Given the description of an element on the screen output the (x, y) to click on. 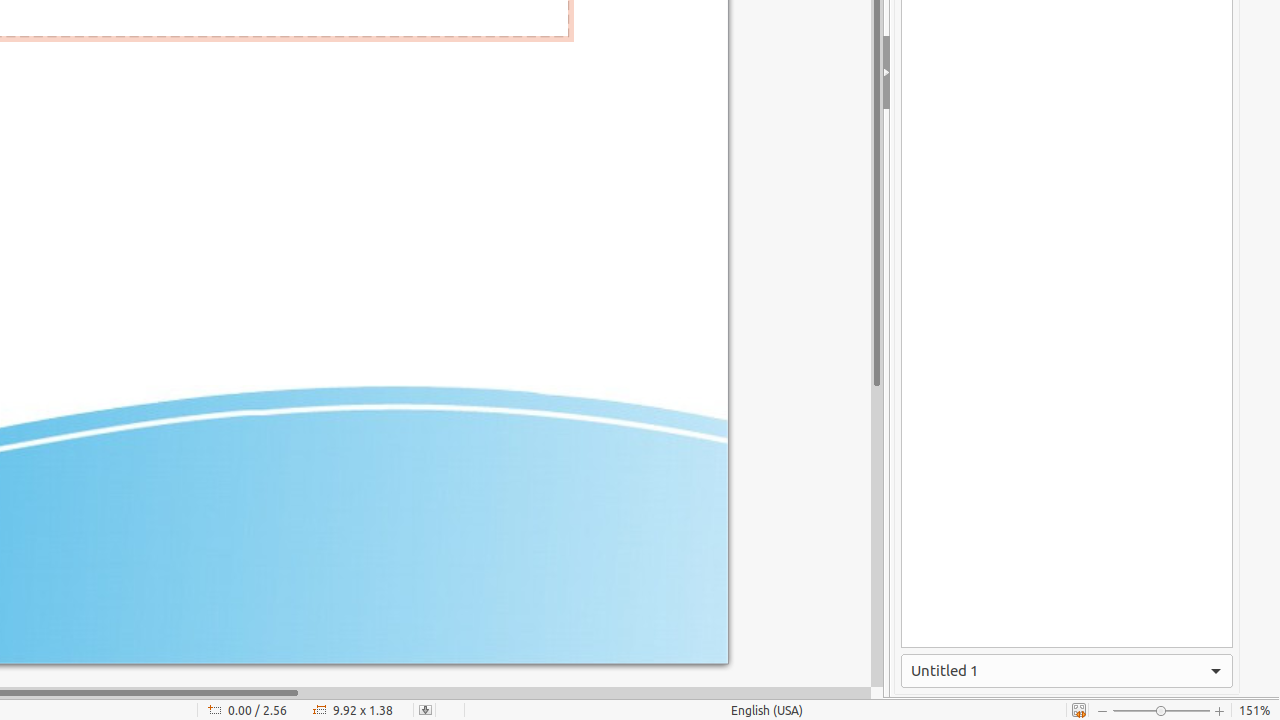
Active Window Element type: combo-box (1067, 671)
